Given the description of an element on the screen output the (x, y) to click on. 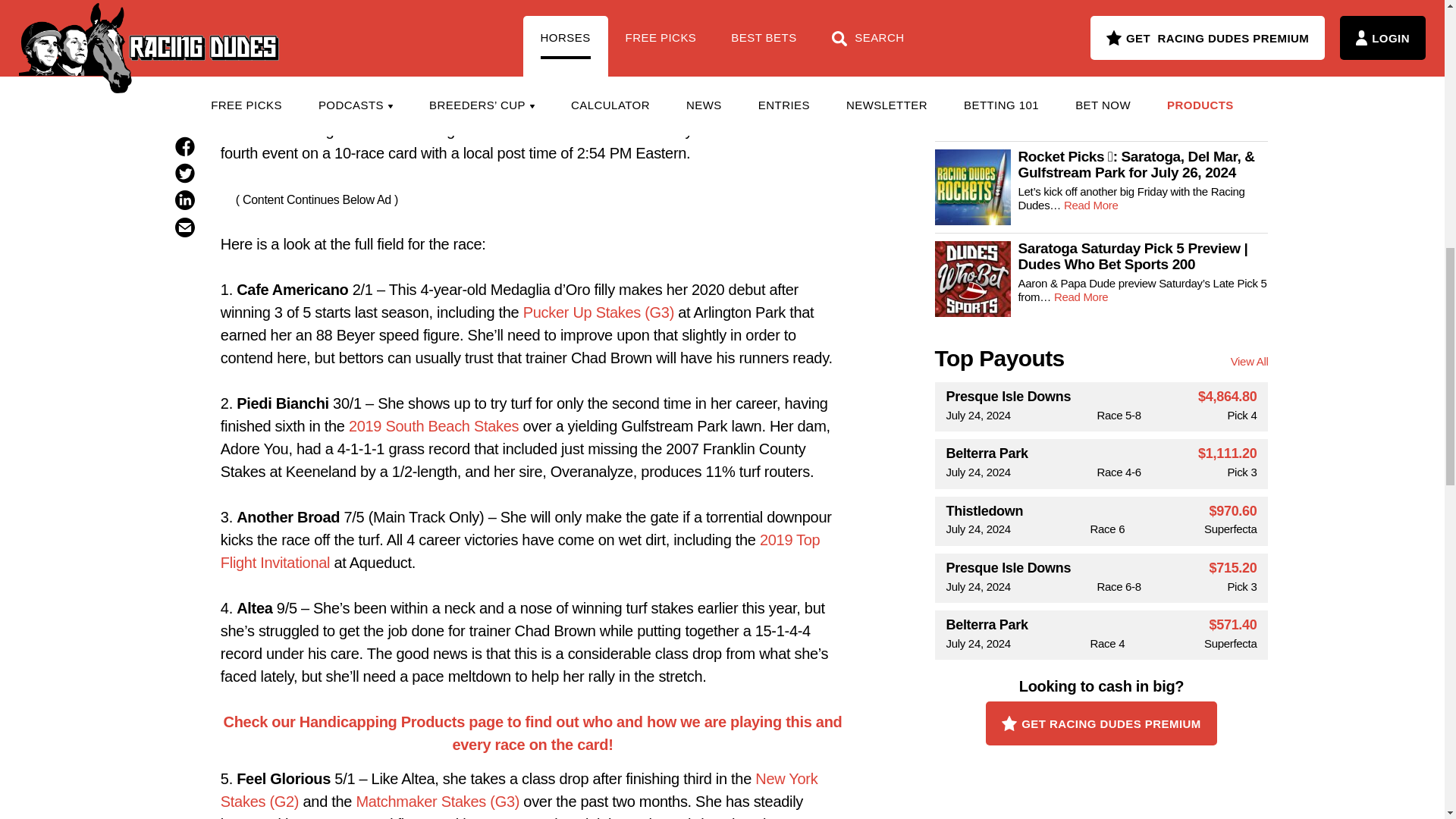
Posts by Curtis "Magic" Kalleward (532, 2)
